Given the description of an element on the screen output the (x, y) to click on. 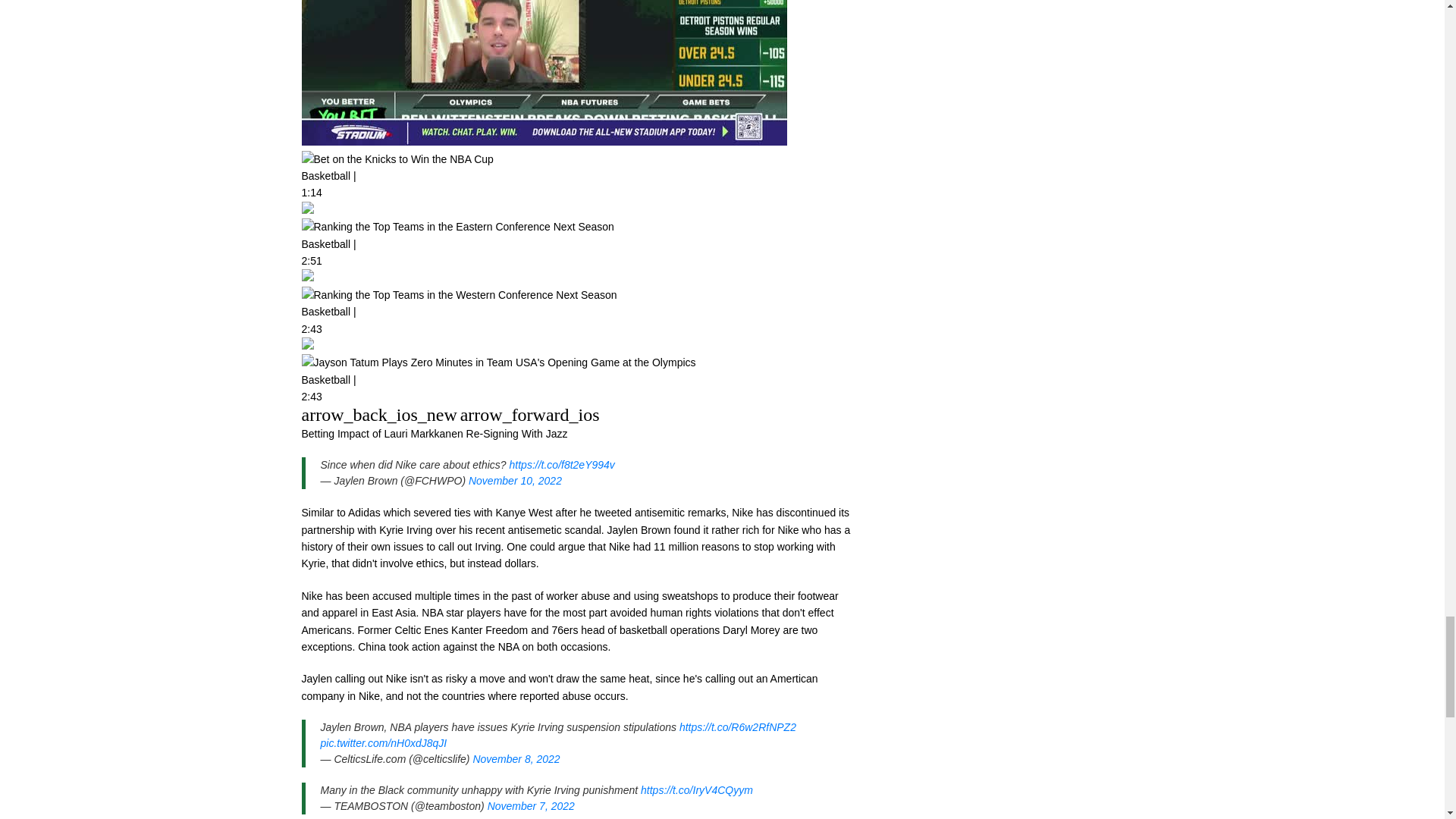
November 7, 2022 (531, 806)
November 10, 2022 (515, 480)
November 8, 2022 (515, 758)
